Given the description of an element on the screen output the (x, y) to click on. 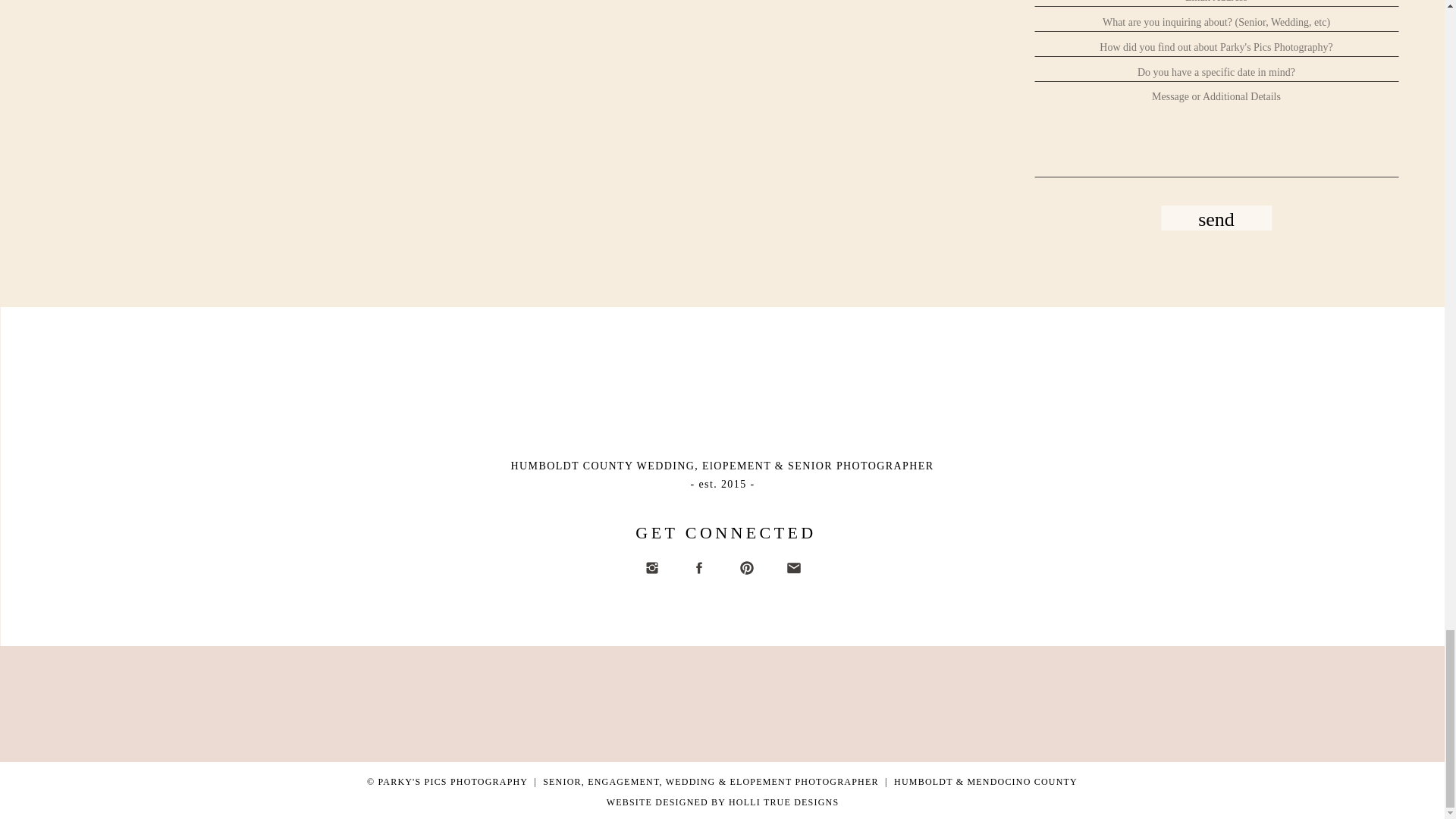
send (1216, 218)
WEBSITE DESIGNED BY HOLLI TRUE DESIGNS (722, 802)
